Given the description of an element on the screen output the (x, y) to click on. 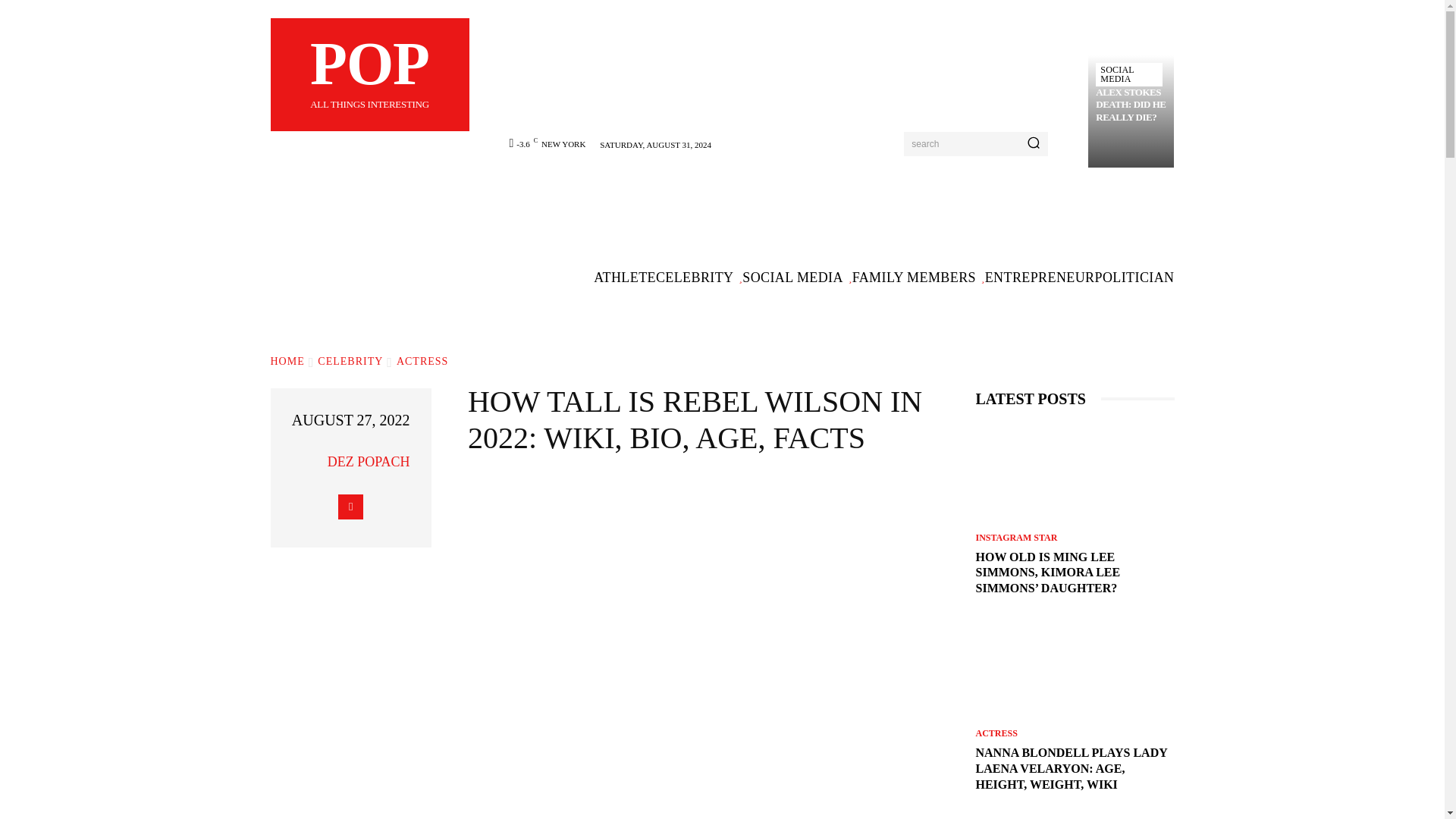
ALEX STOKES DEATH: DID HE REALLY DIE? (368, 74)
Dez Popach (1131, 104)
View all posts in Celebrity (308, 461)
SOCIAL MEDIA (349, 360)
Alex Stokes Death: Did He Really Die? (1128, 74)
View all posts in Actress (1131, 104)
